Given the description of an element on the screen output the (x, y) to click on. 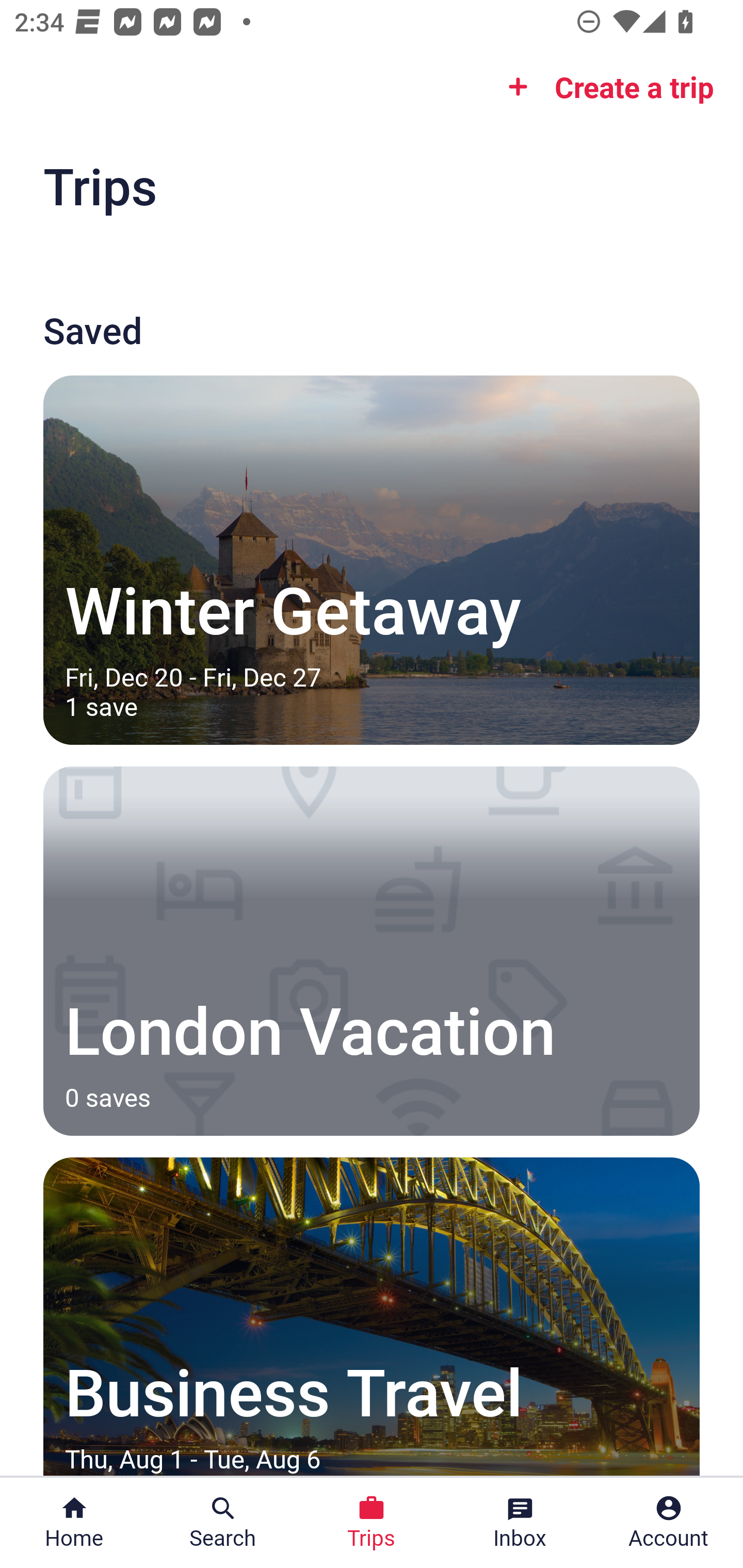
Create a trip Create a trip Button (605, 86)
Home Home Button (74, 1522)
Search Search Button (222, 1522)
Inbox Inbox Button (519, 1522)
Account Profile. Button (668, 1522)
